Given the description of an element on the screen output the (x, y) to click on. 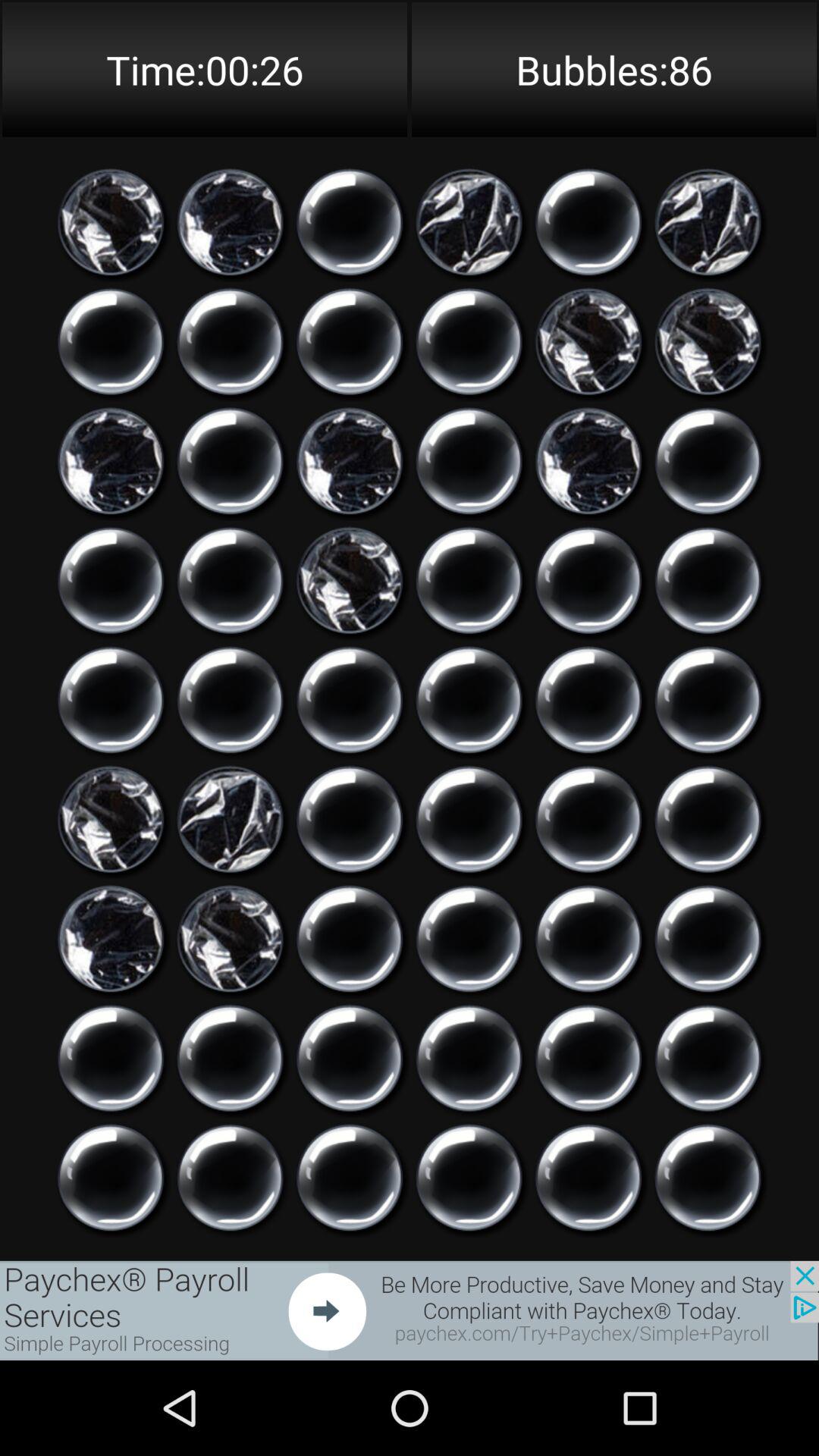
bubble image (349, 699)
